Given the description of an element on the screen output the (x, y) to click on. 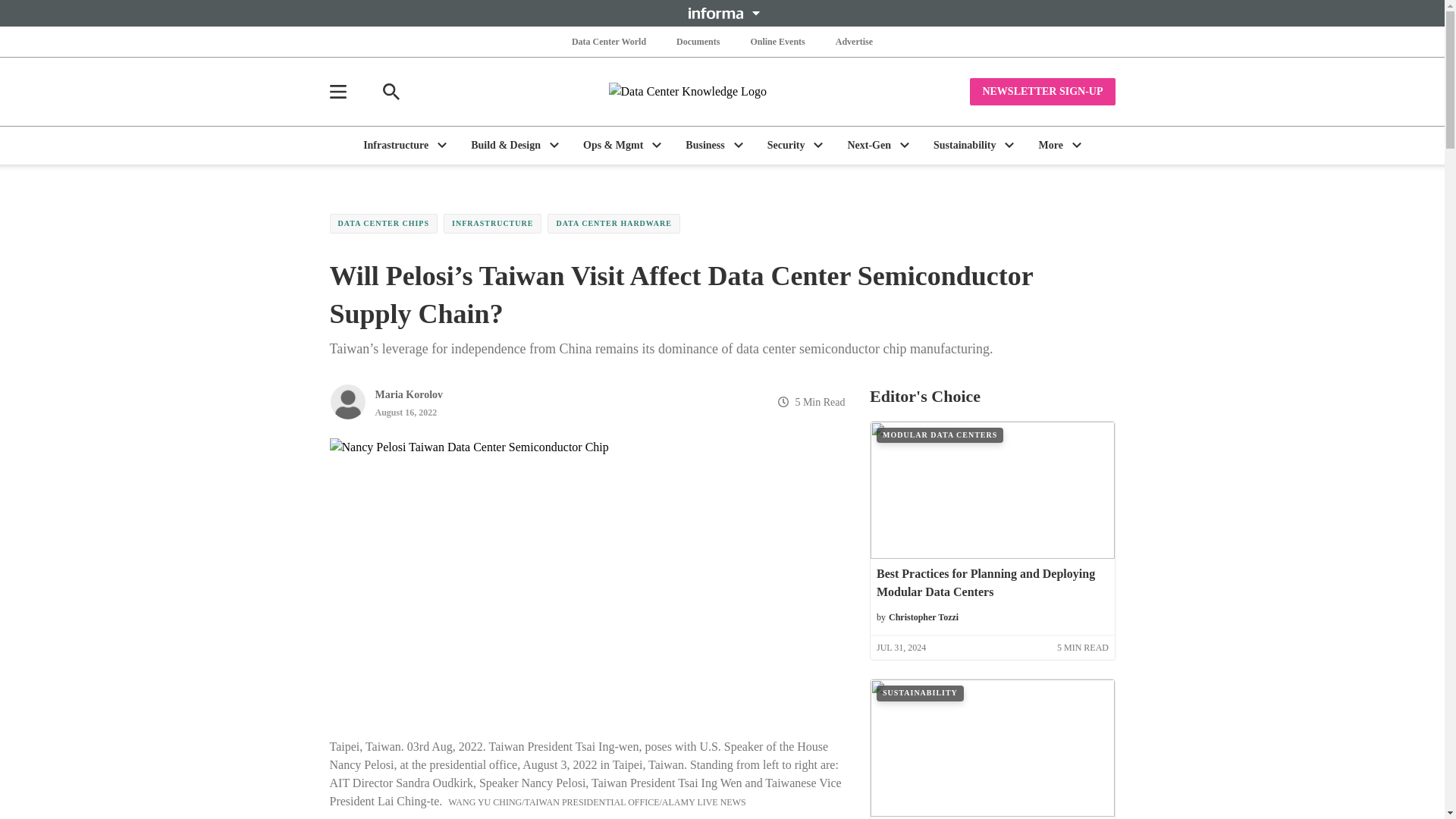
Online Events (777, 41)
NEWSLETTER SIGN-UP (1042, 90)
Picture of Maria Korolov (347, 402)
Data Center World (609, 41)
Data Center Knowledge Logo (721, 91)
Documents (697, 41)
Advertise (854, 41)
